Given the description of an element on the screen output the (x, y) to click on. 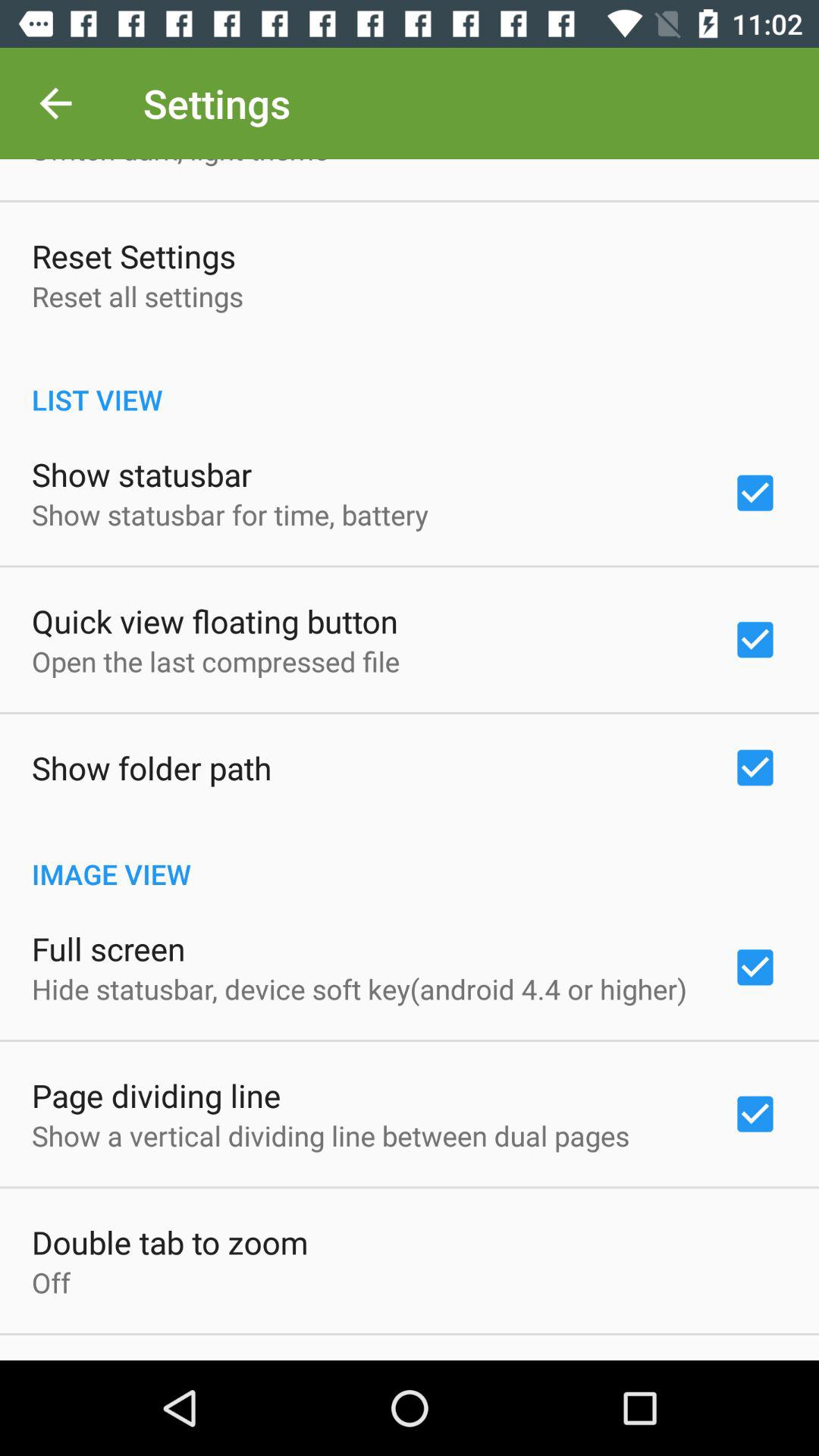
go to previous screen (55, 103)
